Given the description of an element on the screen output the (x, y) to click on. 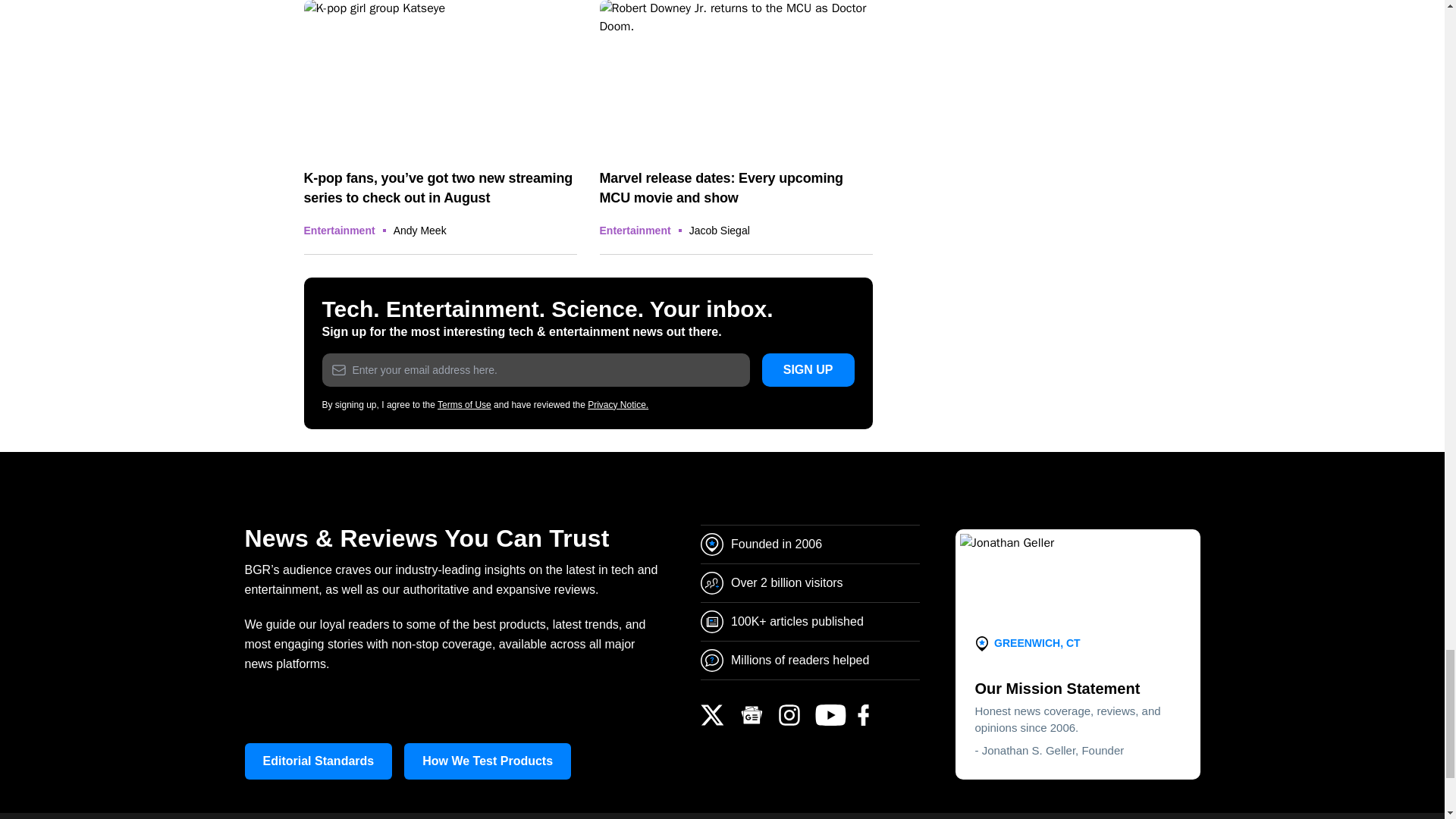
Posts by Jacob Siegal (718, 230)
Marvel release dates (735, 76)
K-pop (439, 76)
Posts by Andy Meek (419, 230)
